Given the description of an element on the screen output the (x, y) to click on. 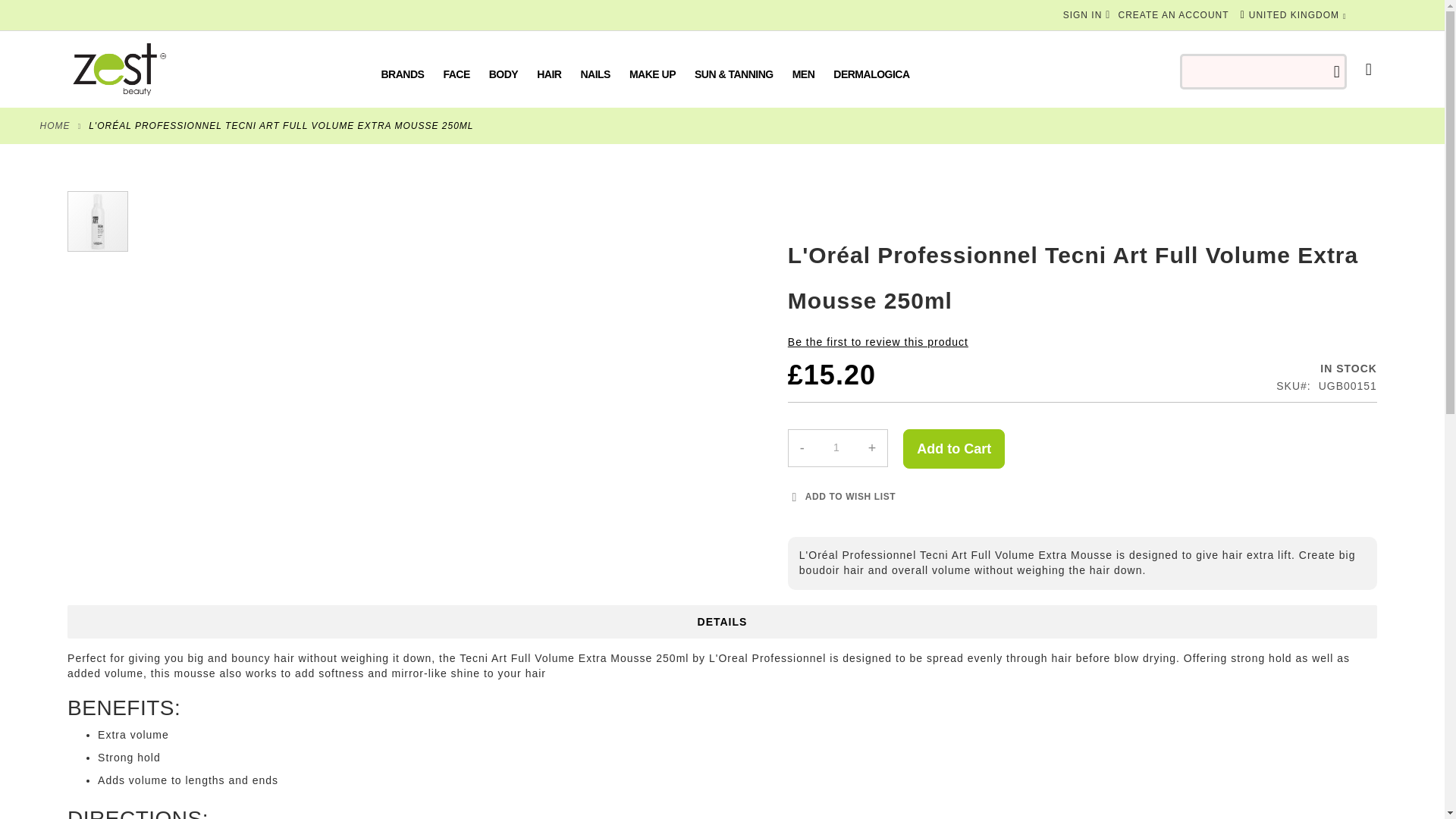
1 (836, 447)
Go to Home Page (54, 125)
Add to Cart (953, 448)
Availability (1260, 368)
Qty (836, 447)
